Given the description of an element on the screen output the (x, y) to click on. 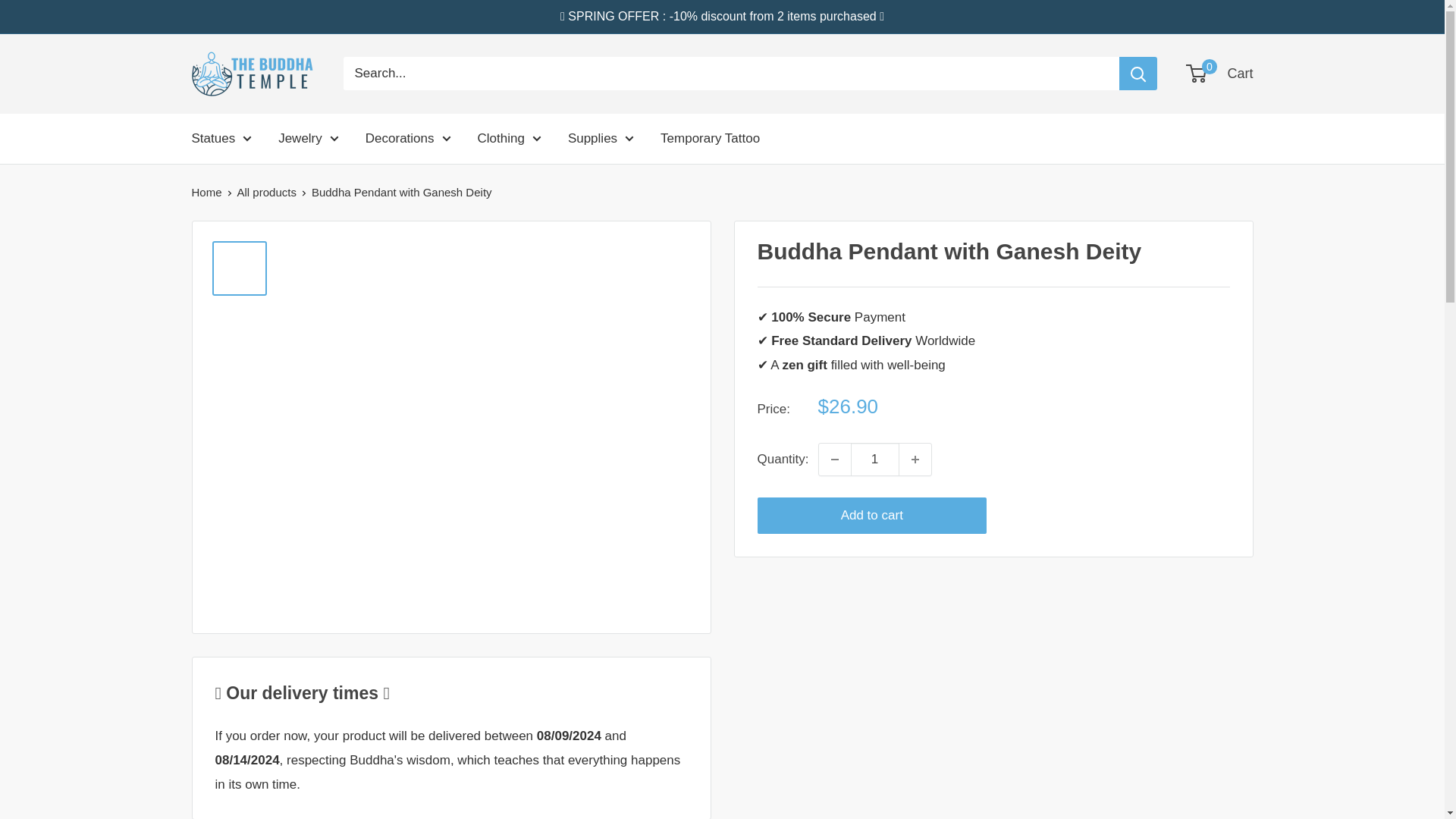
1 (874, 459)
Decrease quantity by 1 (834, 459)
Increase quantity by 1 (915, 459)
